Given the description of an element on the screen output the (x, y) to click on. 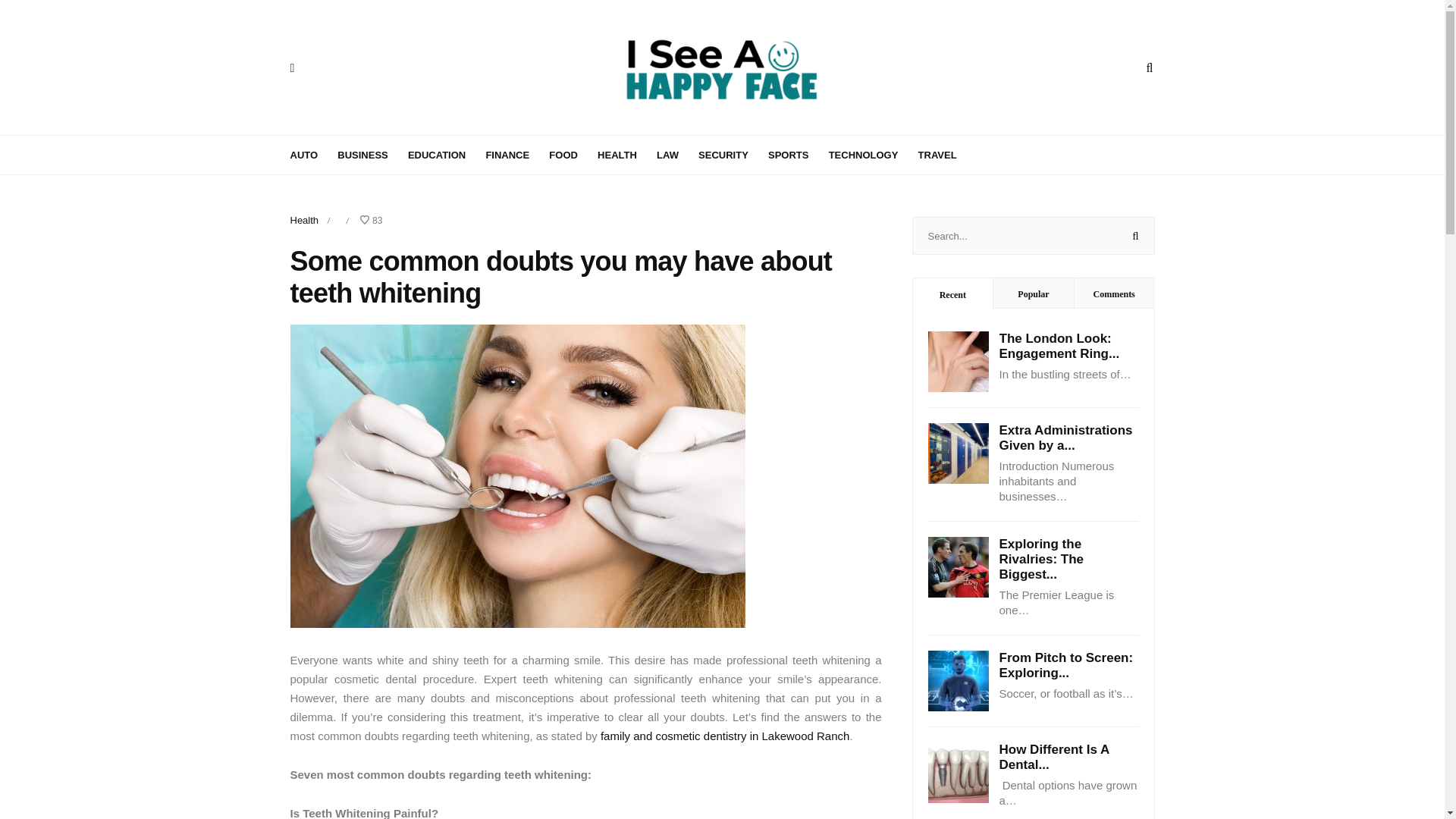
Like (370, 220)
EDUCATION (444, 153)
SPORTS (796, 153)
TRAVEL (946, 153)
LAW (675, 153)
SECURITY (731, 153)
View all posts in Health (303, 220)
FINANCE (515, 153)
HEALTH (624, 153)
AUTO (311, 153)
BUSINESS (370, 153)
TECHNOLOGY (871, 153)
FOOD (571, 153)
